Given the description of an element on the screen output the (x, y) to click on. 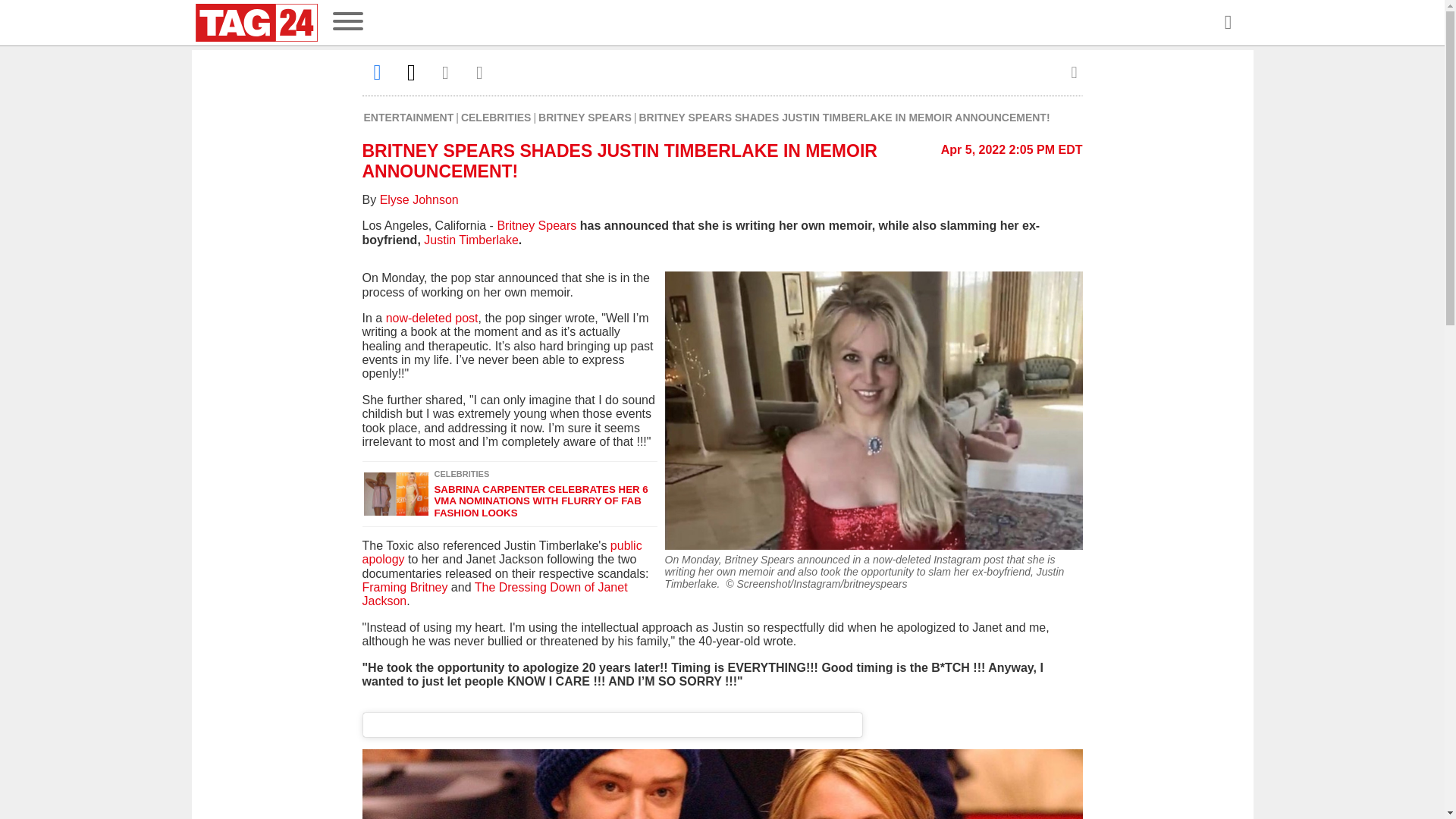
CELEBRITIES (496, 117)
Justin Timberlake (470, 239)
menu (347, 22)
public apology (502, 551)
Share via mail (445, 72)
BRITNEY SPEARS (584, 117)
Copy link (479, 72)
Open search (1227, 22)
now-deleted post (432, 318)
ENTERTAINMENT (409, 117)
